Given the description of an element on the screen output the (x, y) to click on. 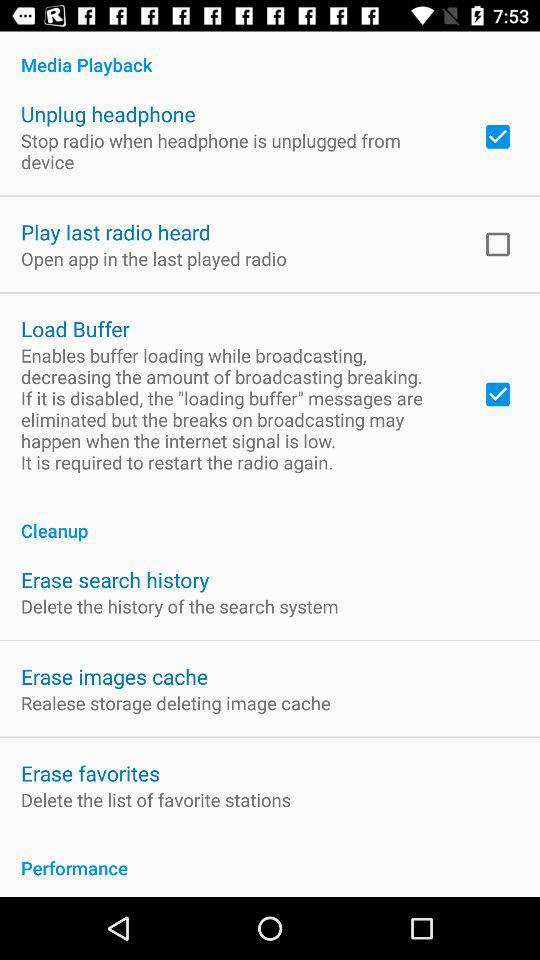
choose item above unplug headphone app (270, 54)
